Given the description of an element on the screen output the (x, y) to click on. 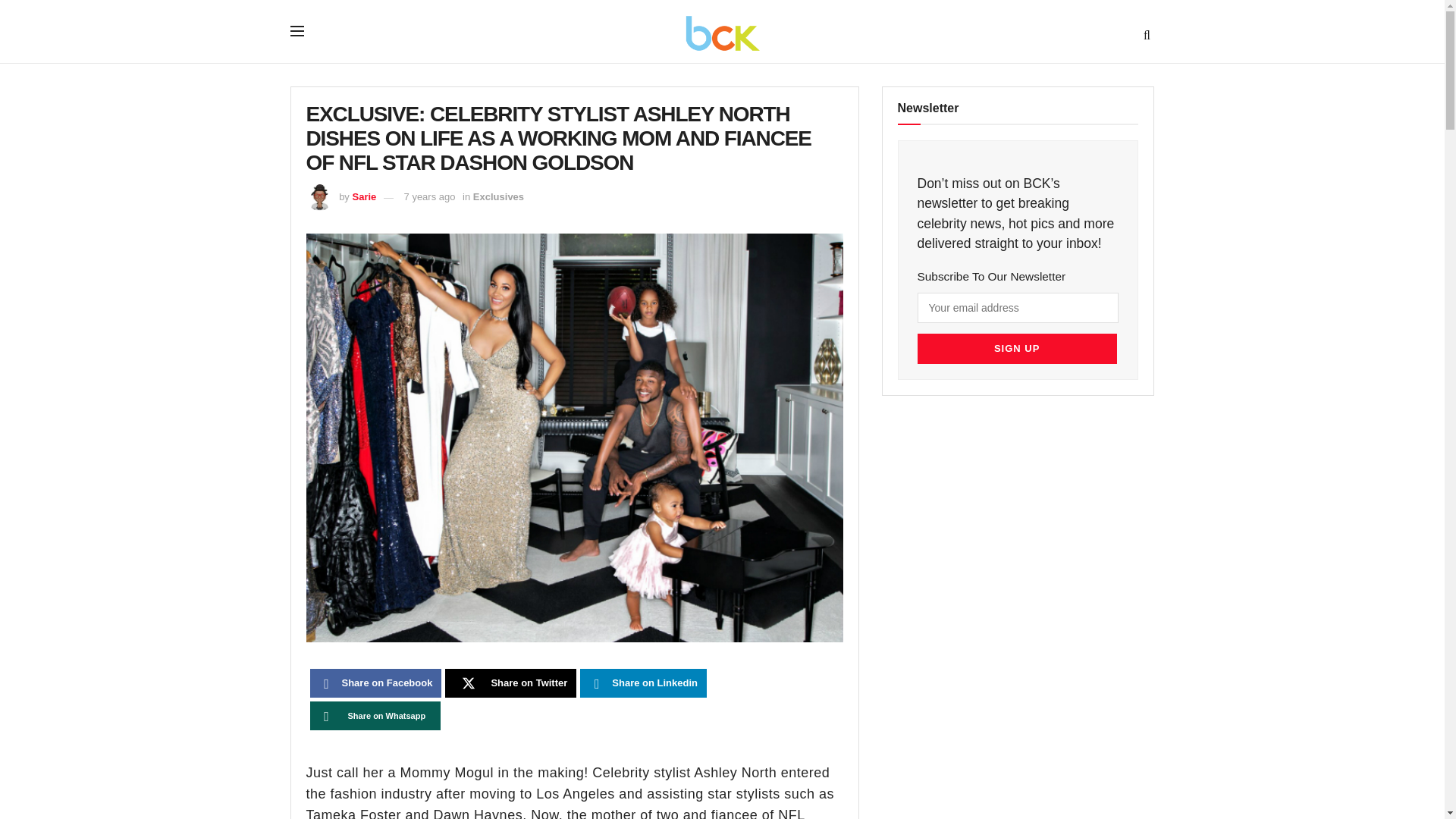
Sign up (1016, 348)
7 years ago (429, 196)
Sarie (363, 196)
Share on Twitter (510, 683)
Share on Linkedin (642, 683)
Exclusives (498, 196)
Share on Facebook (374, 683)
Share on Whatsapp (374, 715)
